Given the description of an element on the screen output the (x, y) to click on. 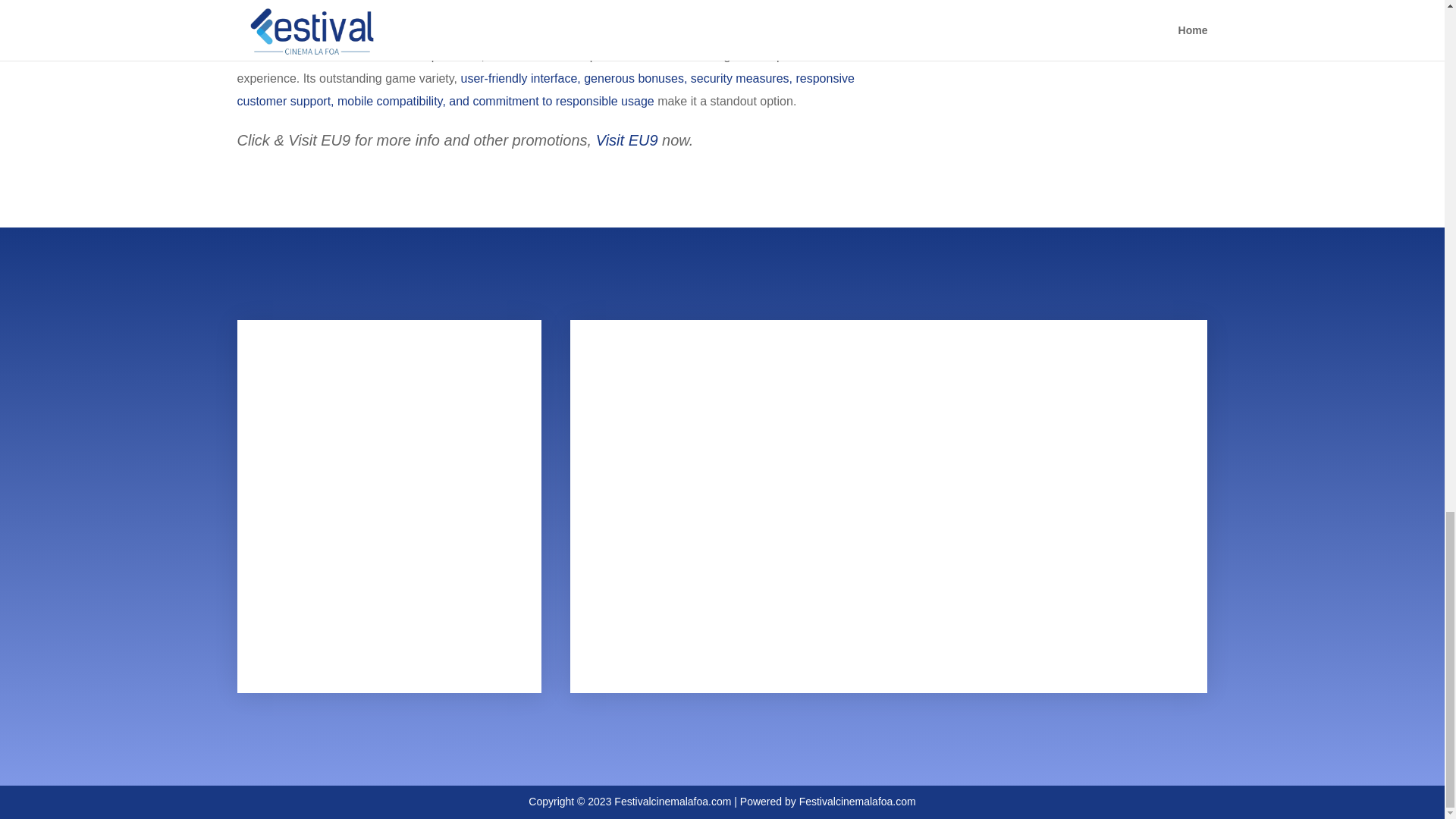
Visit EU9 (626, 139)
Festivalcinemalafoa.com (672, 801)
socially responsible online platform. (627, 2)
Festivalcinemalafoa.com (857, 801)
